Given the description of an element on the screen output the (x, y) to click on. 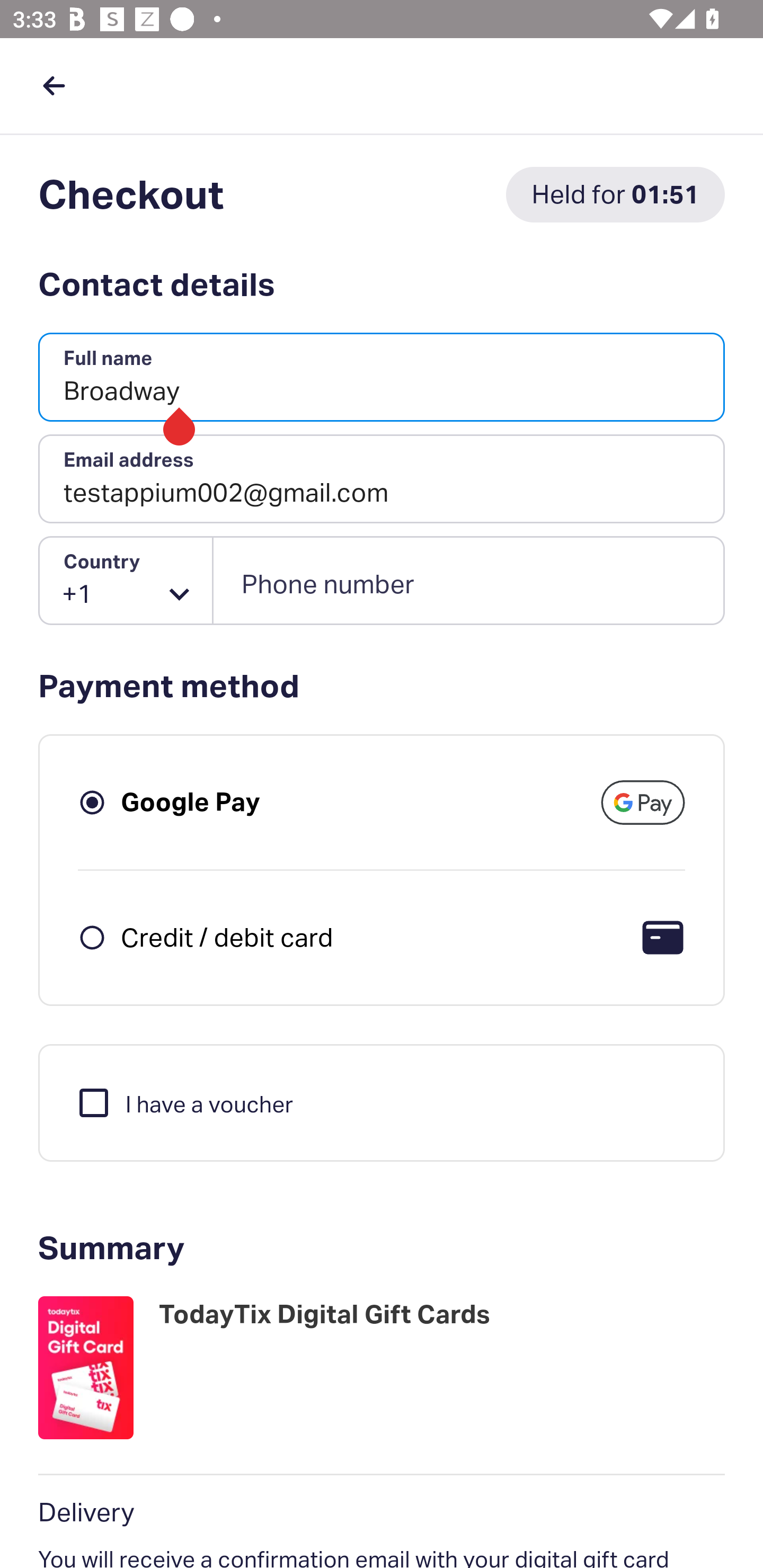
back button (53, 85)
Broadway (381, 377)
testappium002@gmail.com (381, 478)
  +1 (126, 580)
Google Pay (190, 802)
Credit / debit card (227, 936)
I have a voucher (183, 1101)
